Given the description of an element on the screen output the (x, y) to click on. 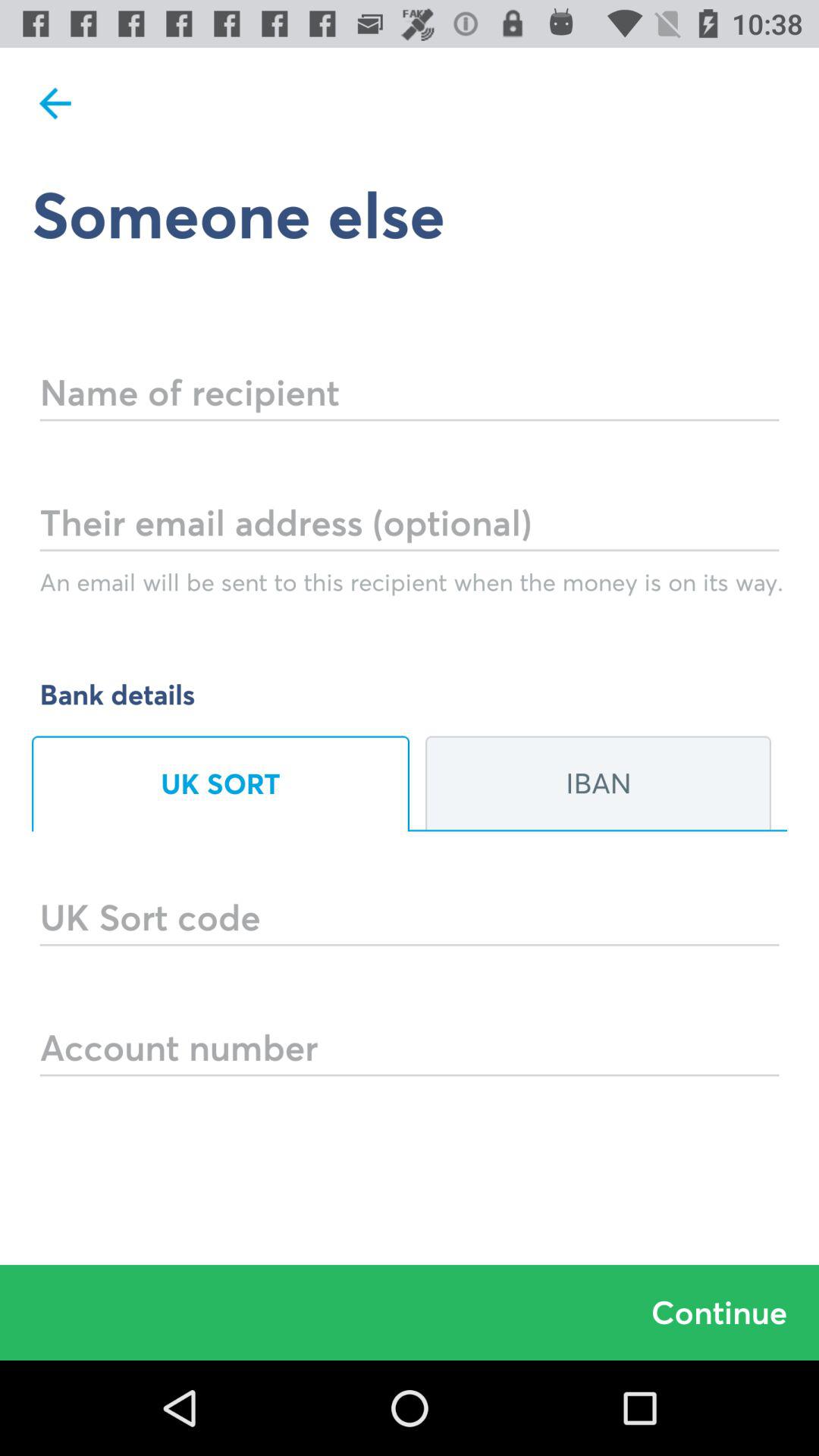
turn on item on the left (220, 783)
